Given the description of an element on the screen output the (x, y) to click on. 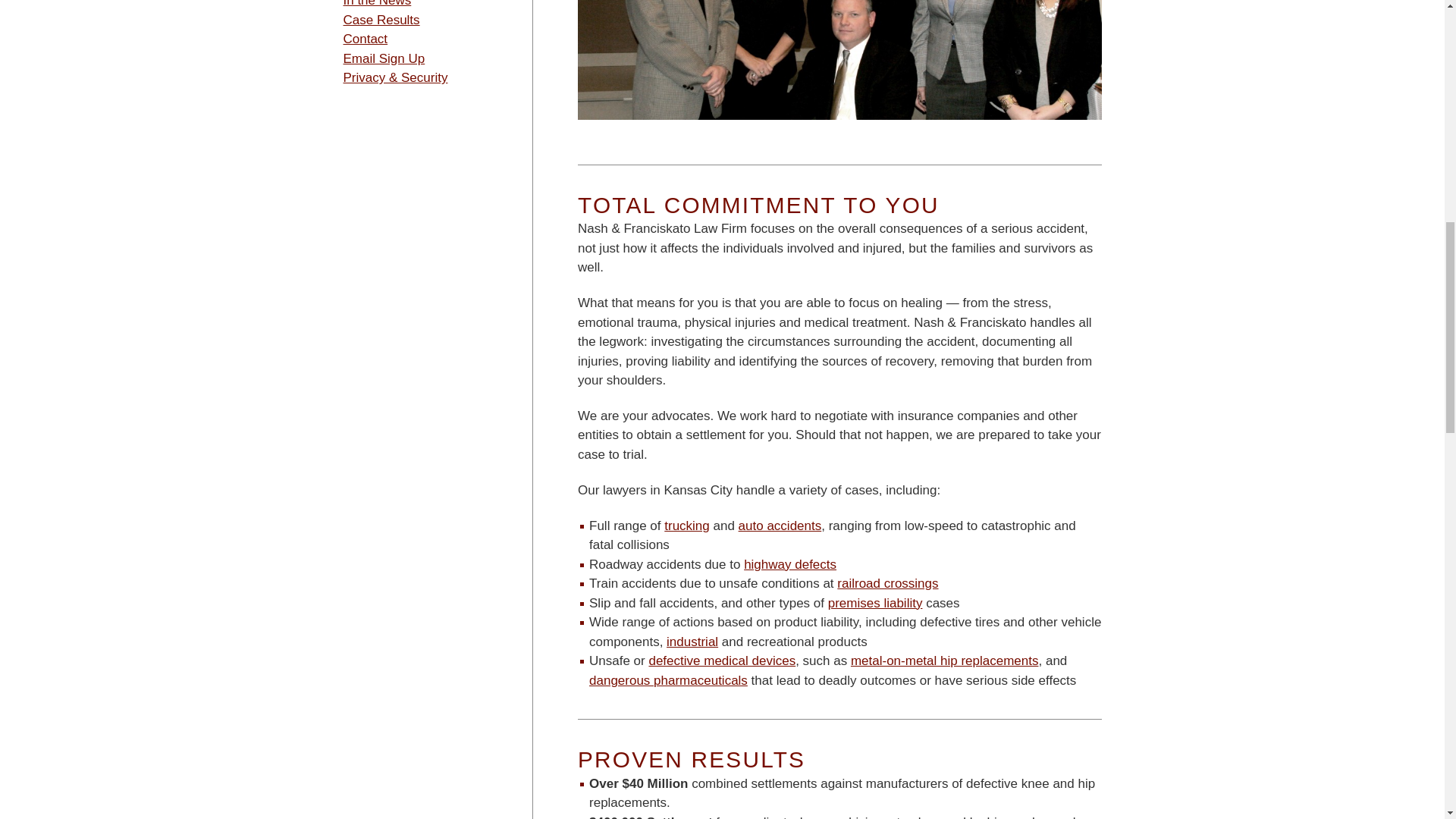
Railroad Crossing Accidents (887, 583)
Highway Defects (789, 564)
Premises Liablility (875, 603)
Trucking Accidents (686, 525)
Automobile Accidents (780, 525)
Defective Medical Devices (720, 660)
Defective Drugs (668, 680)
Metal on Metal Hip Defects (944, 660)
